Given the description of an element on the screen output the (x, y) to click on. 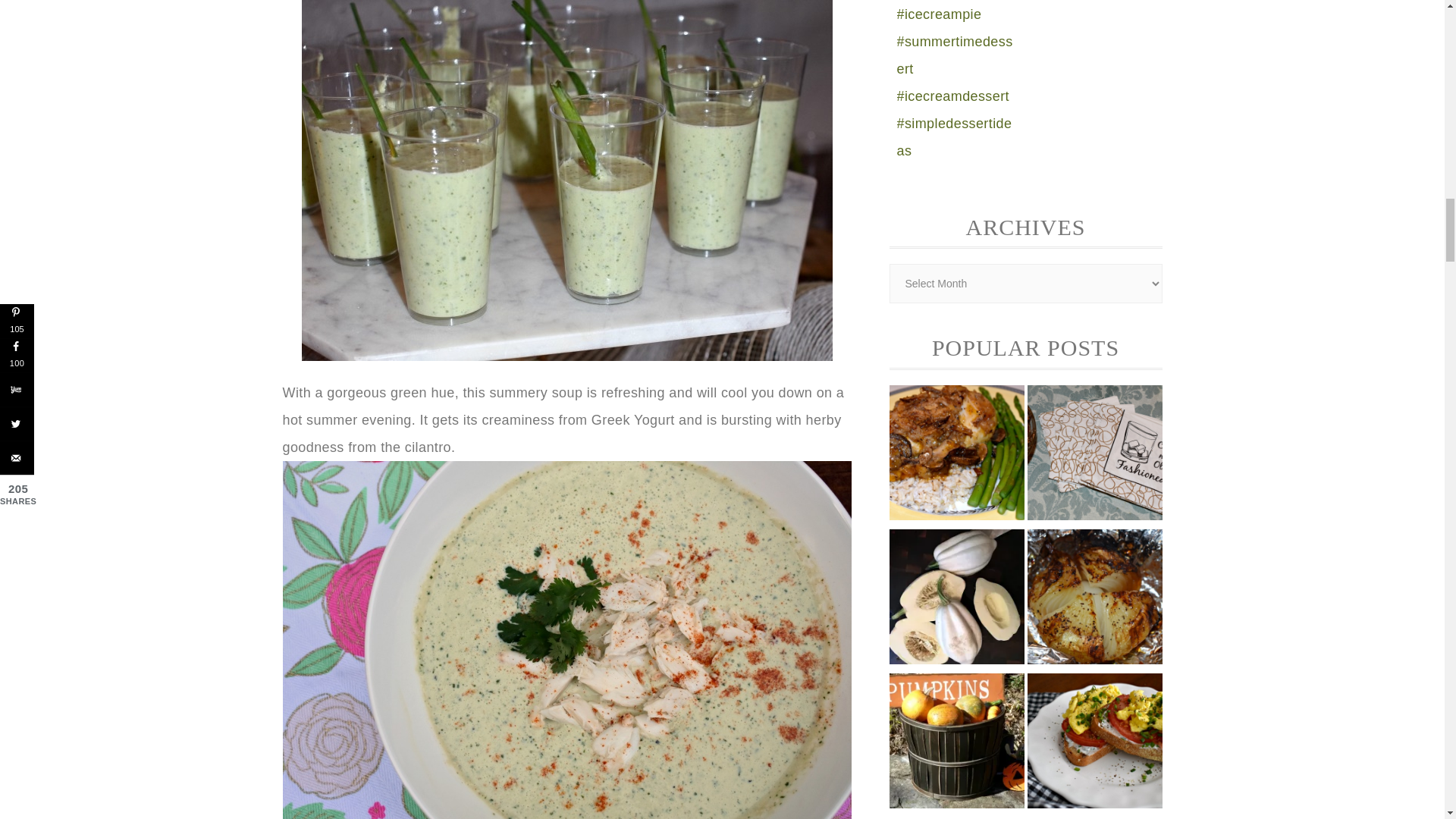
Dad's Summertime Grilled Vidalias (1093, 599)
Weeknight Golden Mushroom Baked Chicken (955, 455)
Mashed Potato Squash (955, 599)
Host a Swanky 60s-esque Dinner Party (1093, 455)
Host an Outdoor Fall Party that makes Kids and Adults Smile (955, 743)
